Given the description of an element on the screen output the (x, y) to click on. 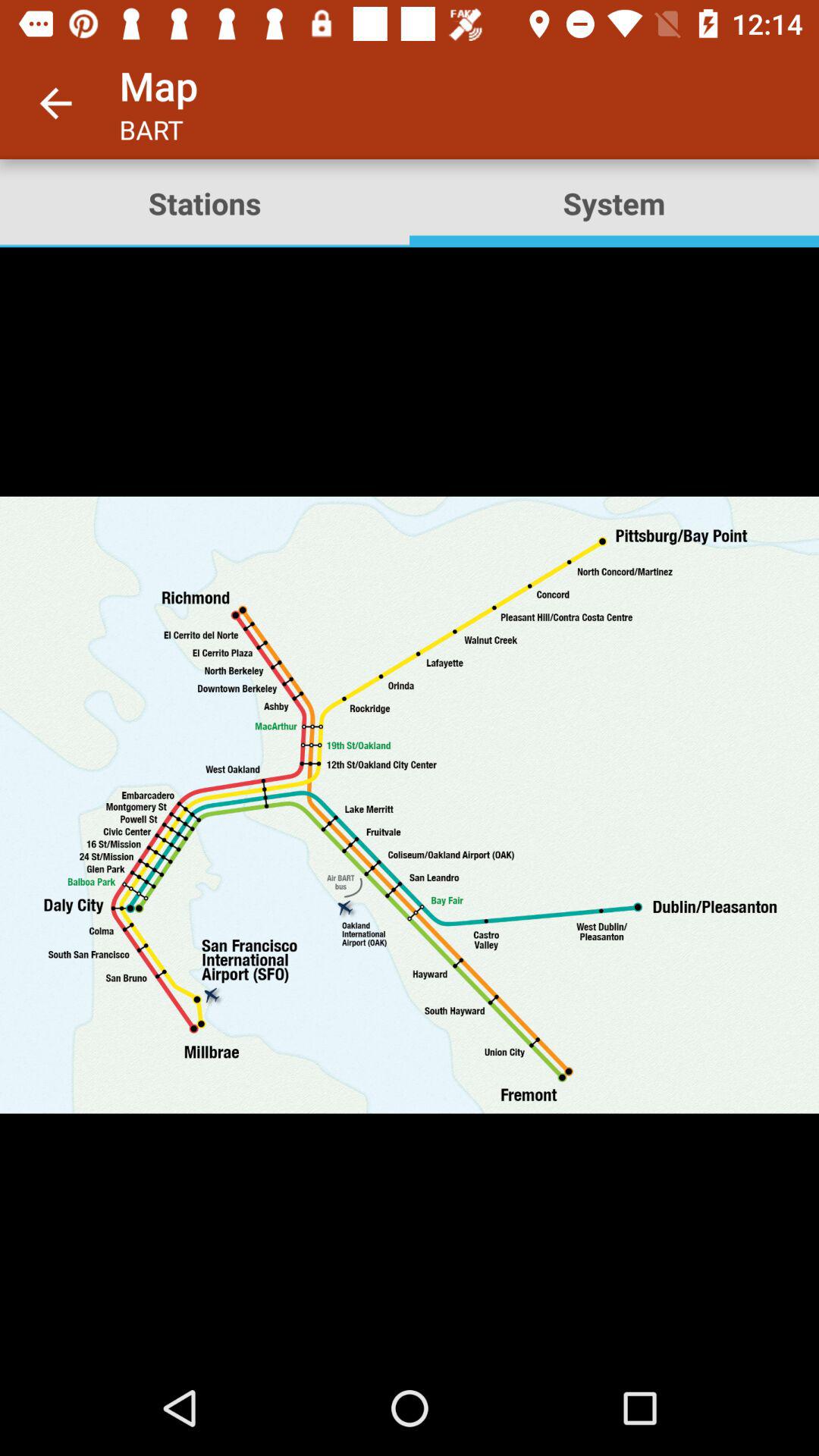
choose the selection (409, 803)
